Given the description of an element on the screen output the (x, y) to click on. 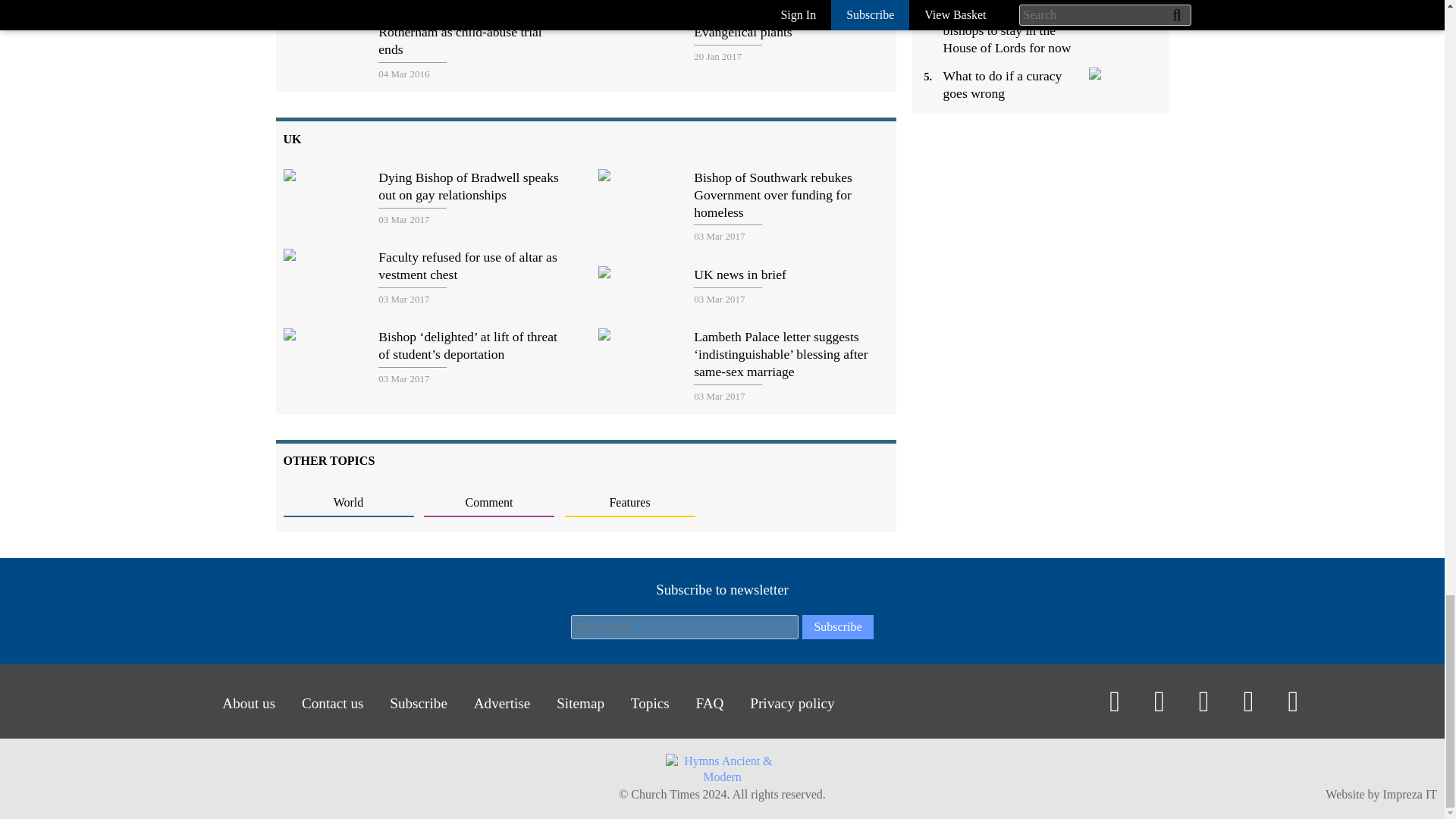
Subscribe (837, 627)
